Given the description of an element on the screen output the (x, y) to click on. 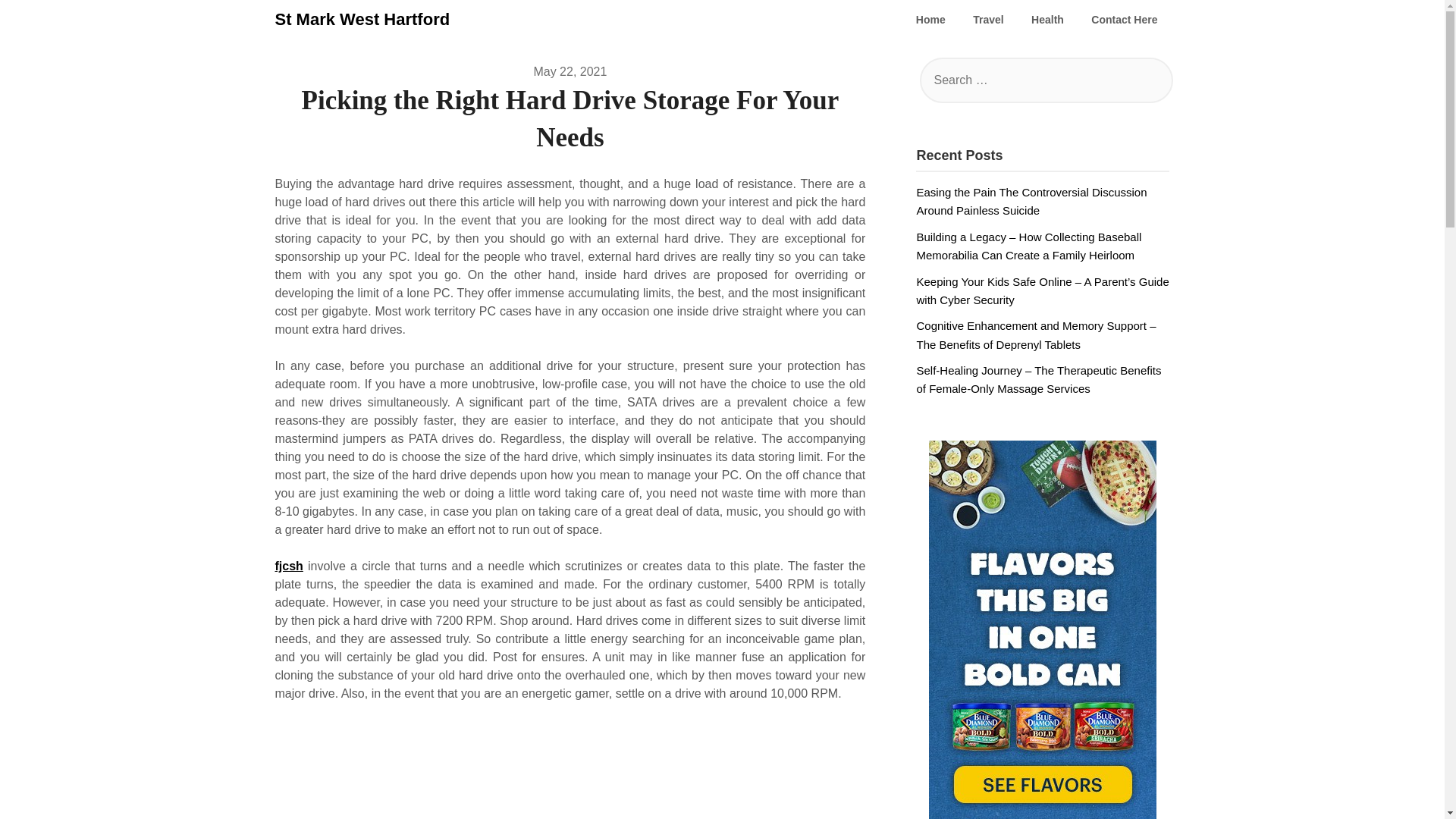
Home (931, 20)
St Mark West Hartford (362, 19)
Travel (987, 20)
Contact Here (1123, 20)
fjcsh (288, 565)
Health (1047, 20)
Search (38, 22)
May 22, 2021 (569, 71)
